Given the description of an element on the screen output the (x, y) to click on. 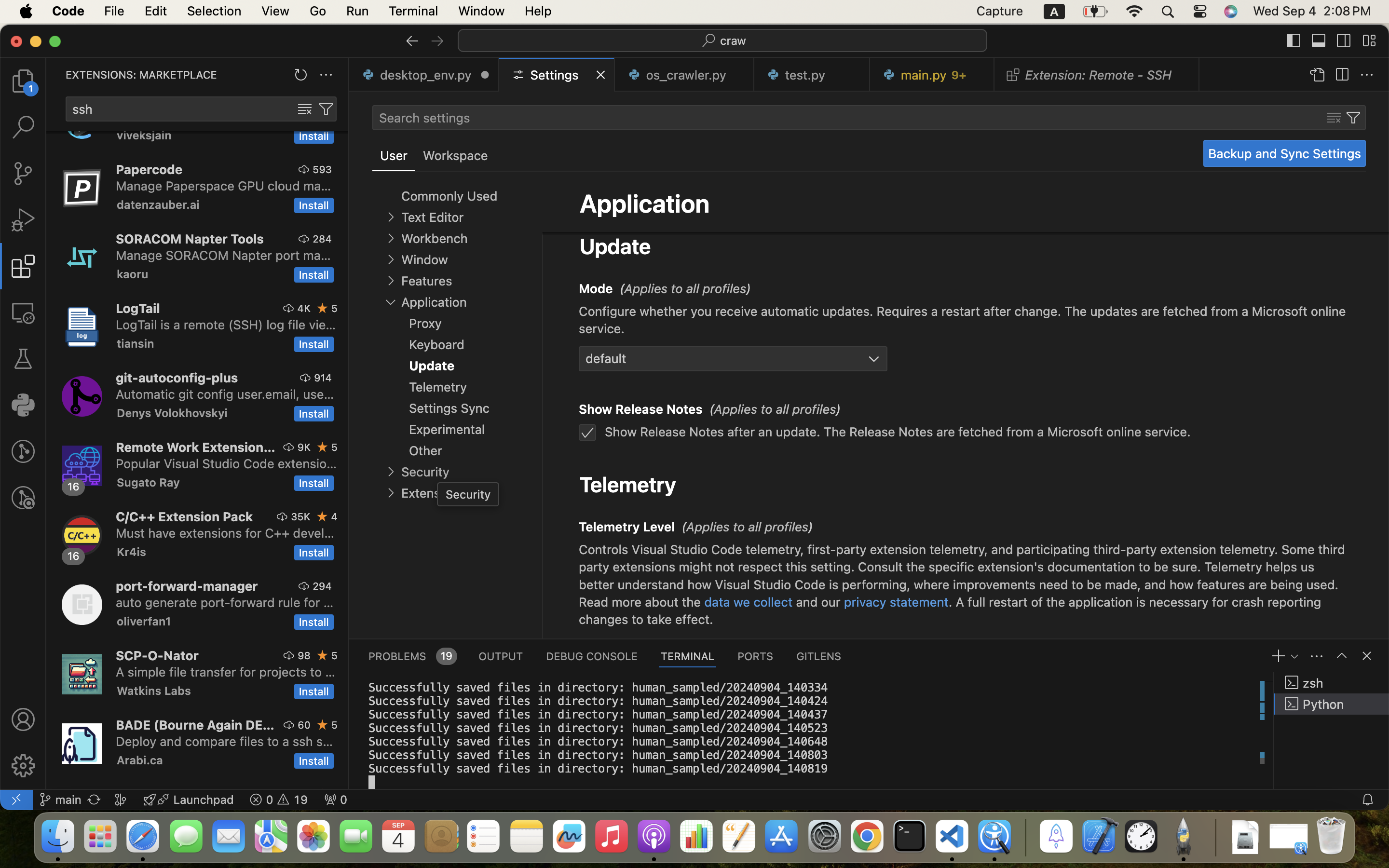
 Element type: AXStaticText (554, 286)
